Given the description of an element on the screen output the (x, y) to click on. 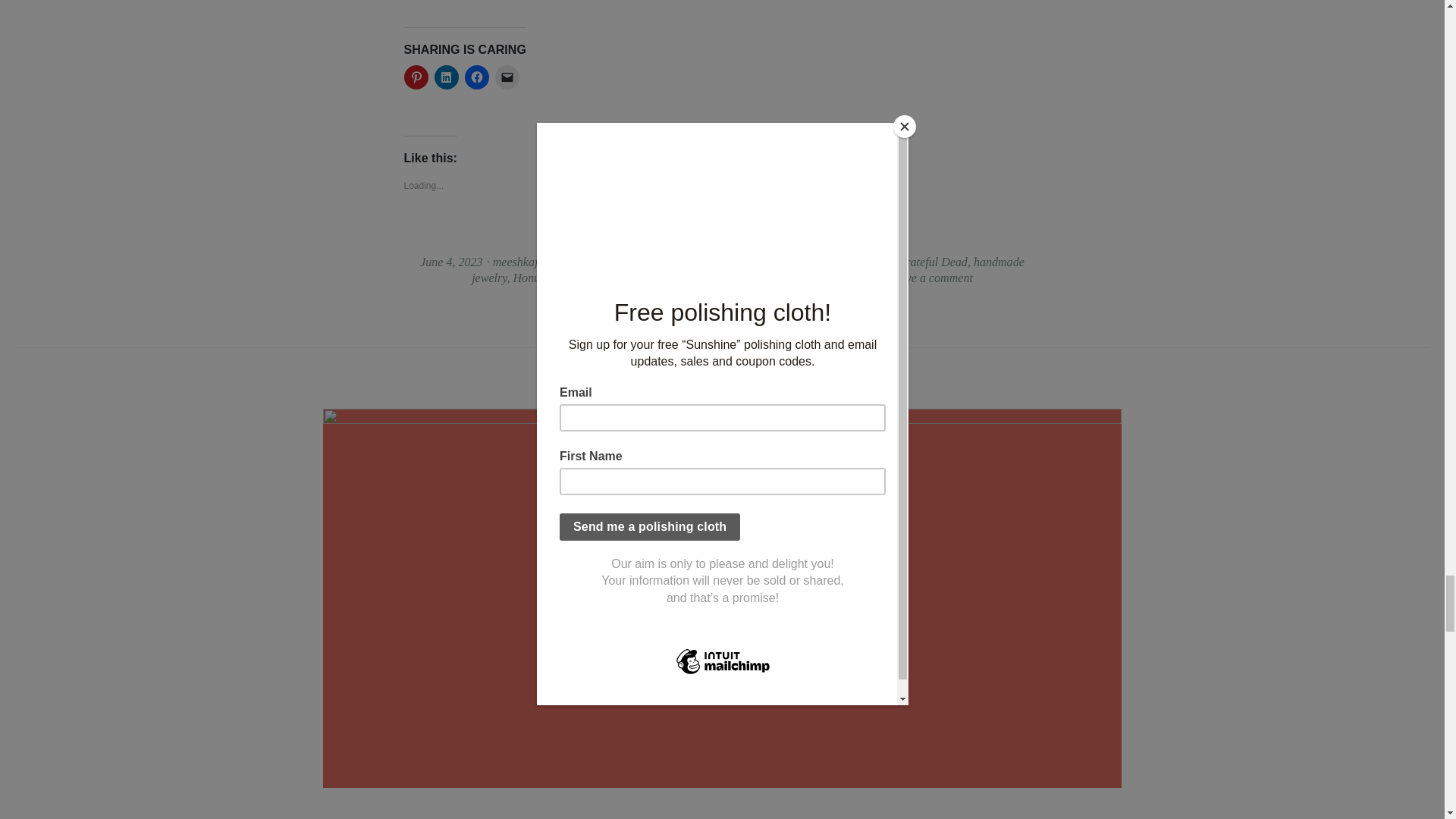
Click to share on Pinterest (415, 77)
Click to email a link to a friend (506, 77)
Click to share on Facebook (475, 77)
Click to share on LinkedIn (445, 77)
